Given the description of an element on the screen output the (x, y) to click on. 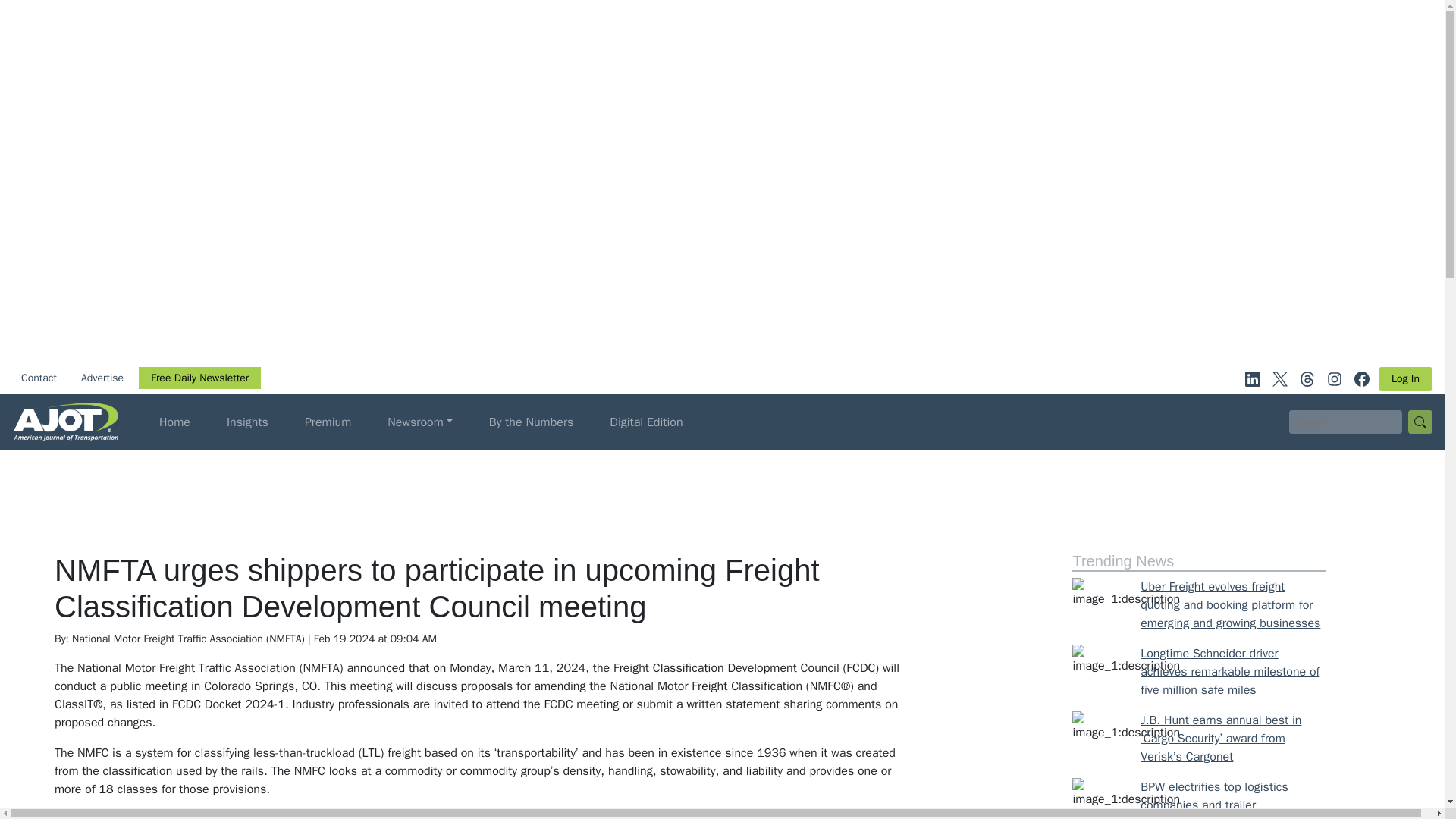
Premium (327, 422)
Advertise (101, 377)
Contact (38, 377)
Free Daily Newsletter (199, 377)
Insights (248, 422)
Log In (1405, 378)
Newsroom (419, 422)
Home (174, 422)
By the Numbers (531, 422)
Digital Edition (646, 422)
